Given the description of an element on the screen output the (x, y) to click on. 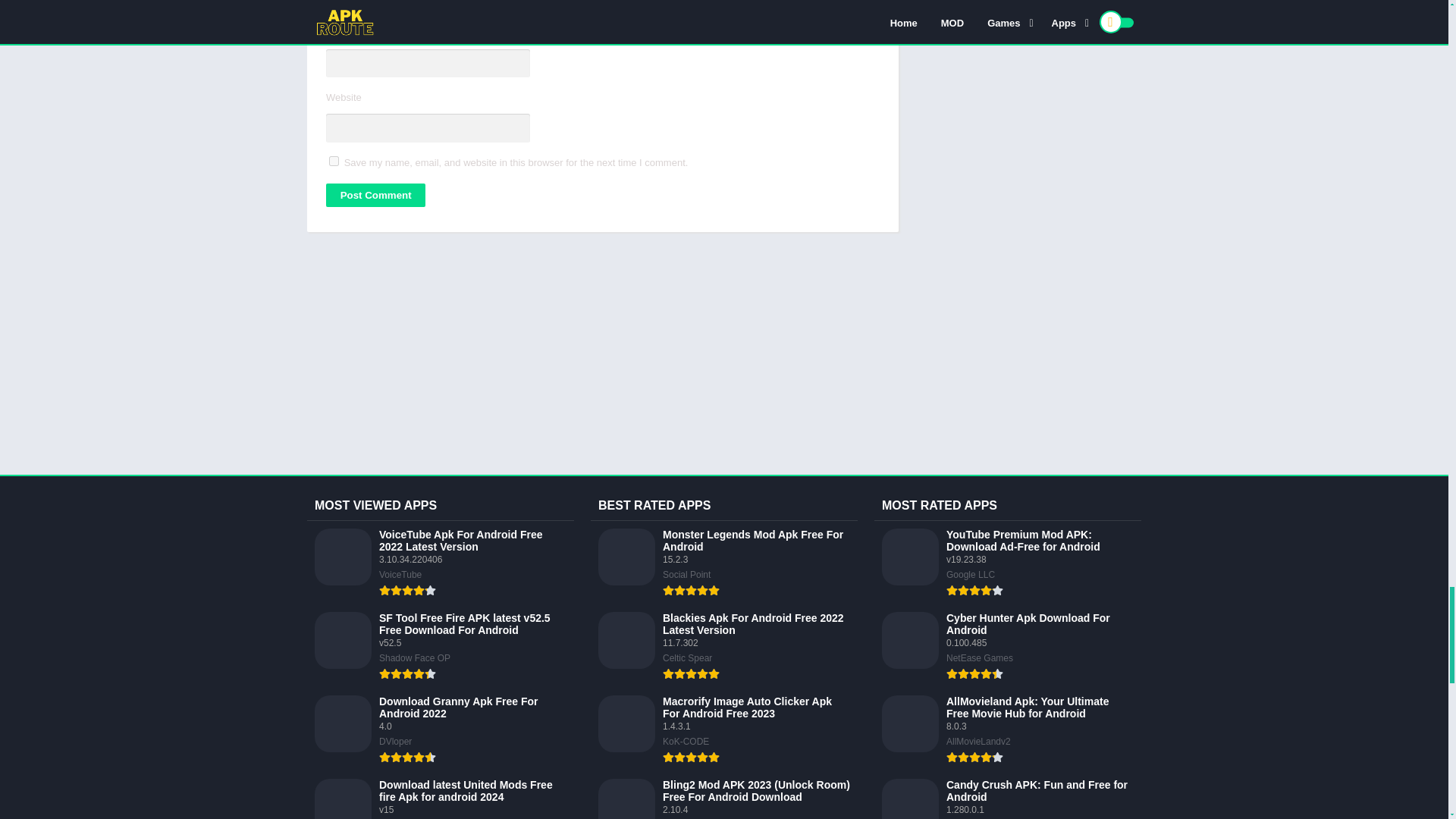
yes (334, 161)
Post Comment (375, 195)
